Given the description of an element on the screen output the (x, y) to click on. 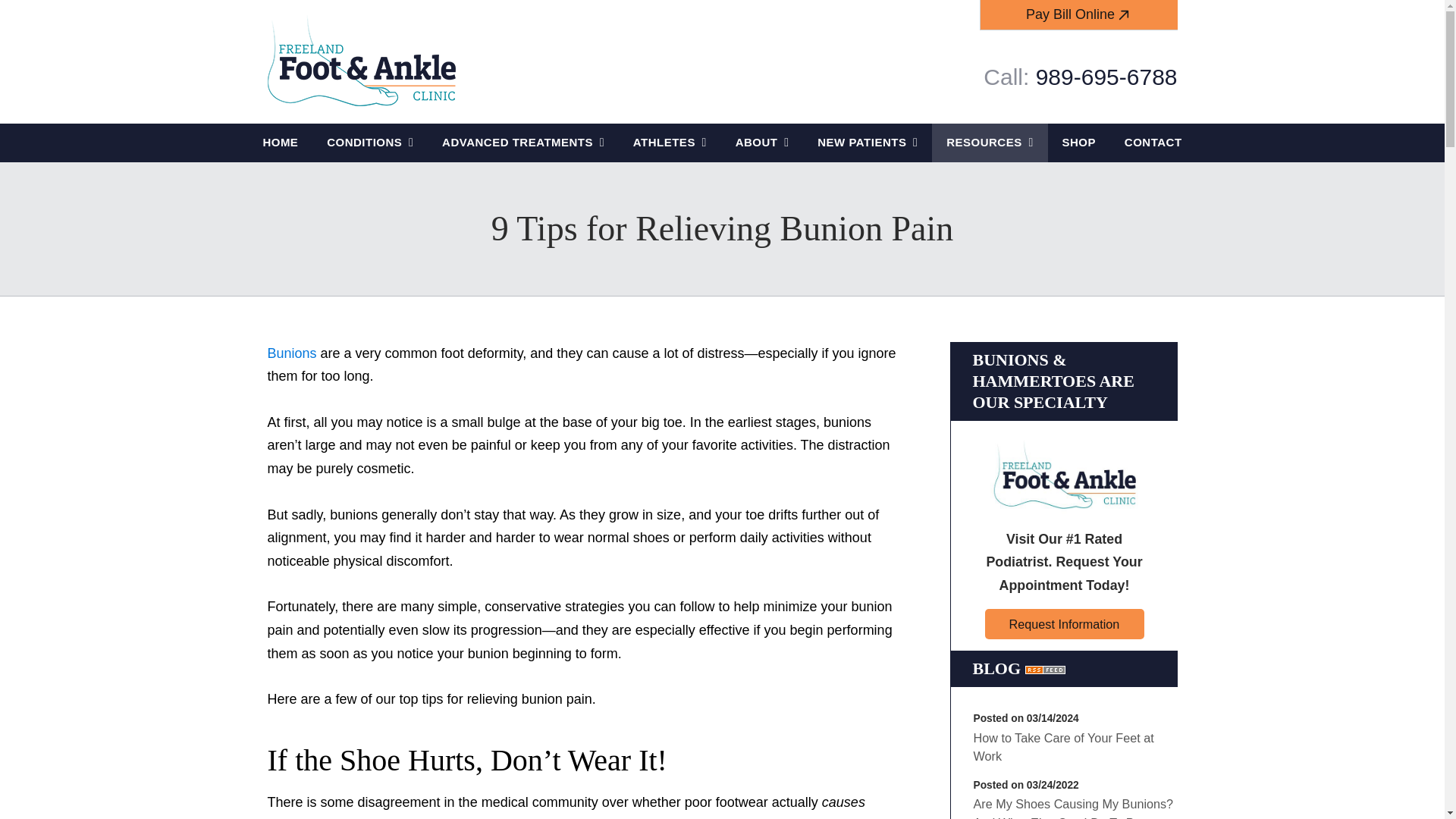
RESOURCES (988, 142)
HOME (280, 142)
Subscribe to our RSS Feed (1045, 668)
CONDITIONS (370, 142)
Pay Bill Online (1077, 14)
ABOUT (761, 142)
NEW PATIENTS (867, 142)
ADVANCED TREATMENTS (523, 142)
ATHLETES (669, 142)
